Given the description of an element on the screen output the (x, y) to click on. 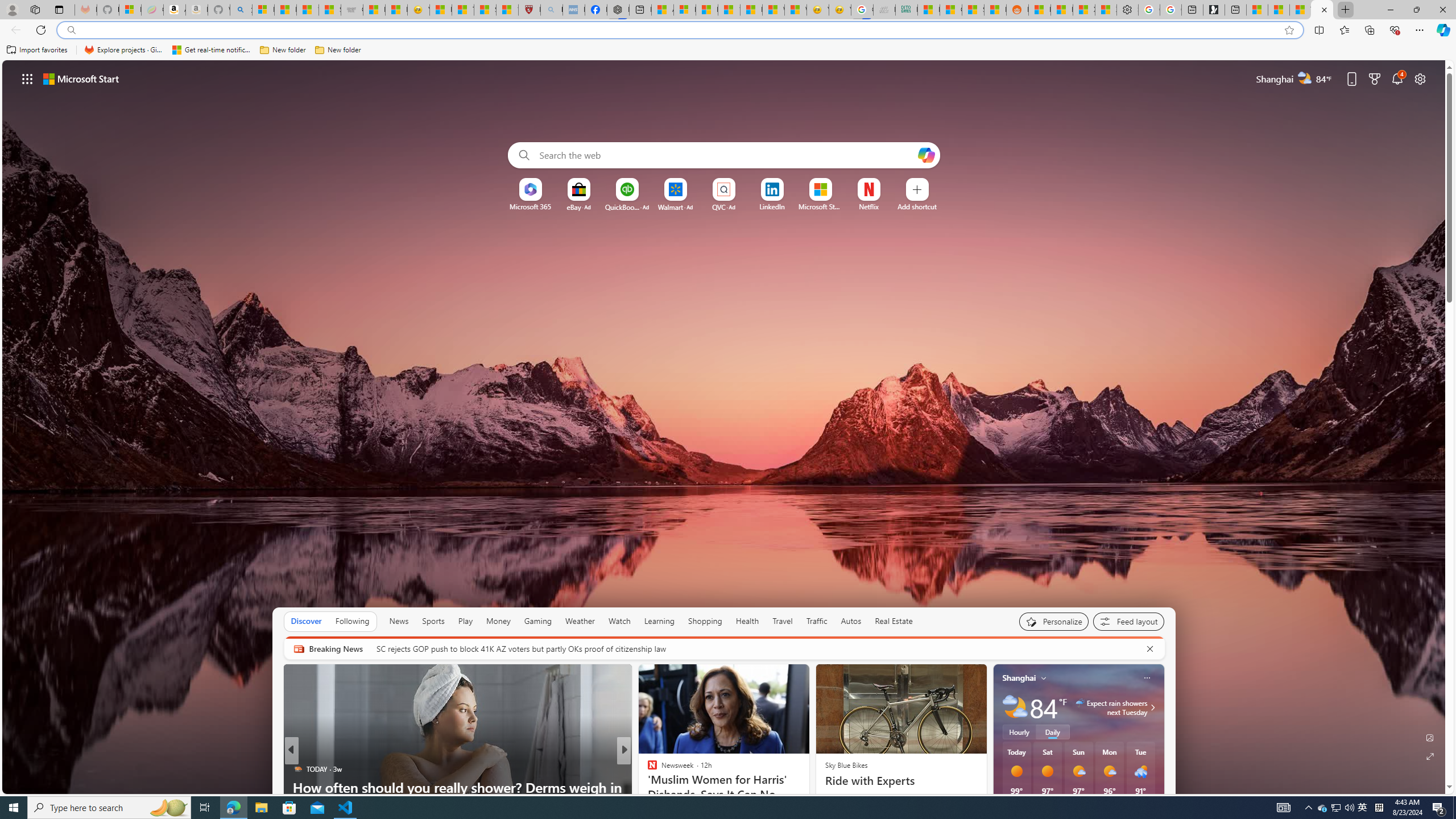
Hourly (1018, 731)
TODAY (296, 768)
Shanghai (1018, 678)
Add a site (916, 206)
Navy Quest (883, 9)
Edit Background (1430, 737)
Search icon (70, 29)
Combat Siege (352, 9)
